Given the description of an element on the screen output the (x, y) to click on. 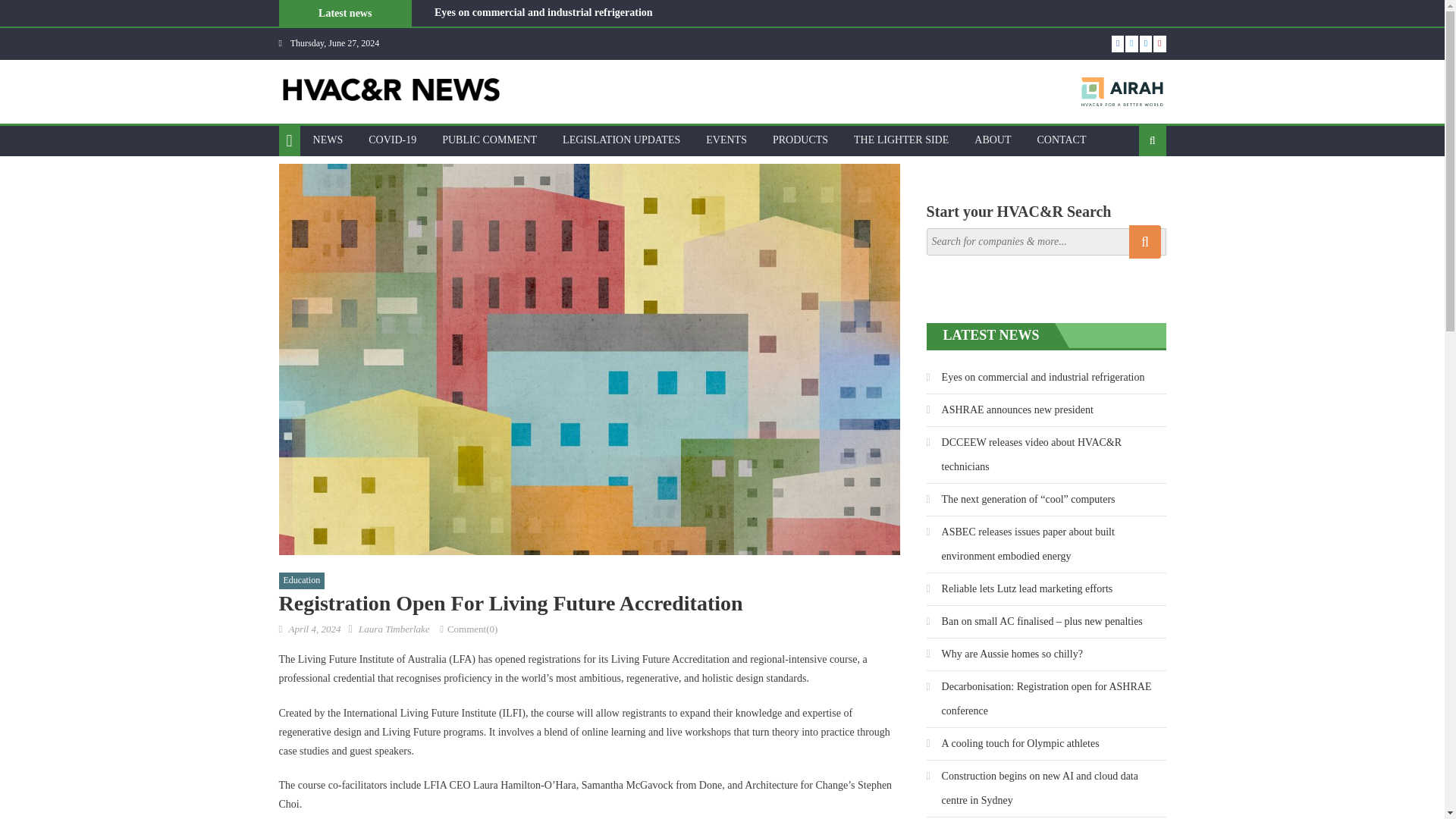
EVENTS (726, 140)
ASHRAE announces new president (514, 30)
Education (301, 580)
THE LIGHTER SIDE (901, 140)
NEWS (328, 140)
LEGISLATION UPDATES (621, 140)
Search (1128, 189)
April 4, 2024 (314, 628)
PUBLIC COMMENT (489, 140)
Eyes on commercial and industrial refrigeration (542, 12)
